Given the description of an element on the screen output the (x, y) to click on. 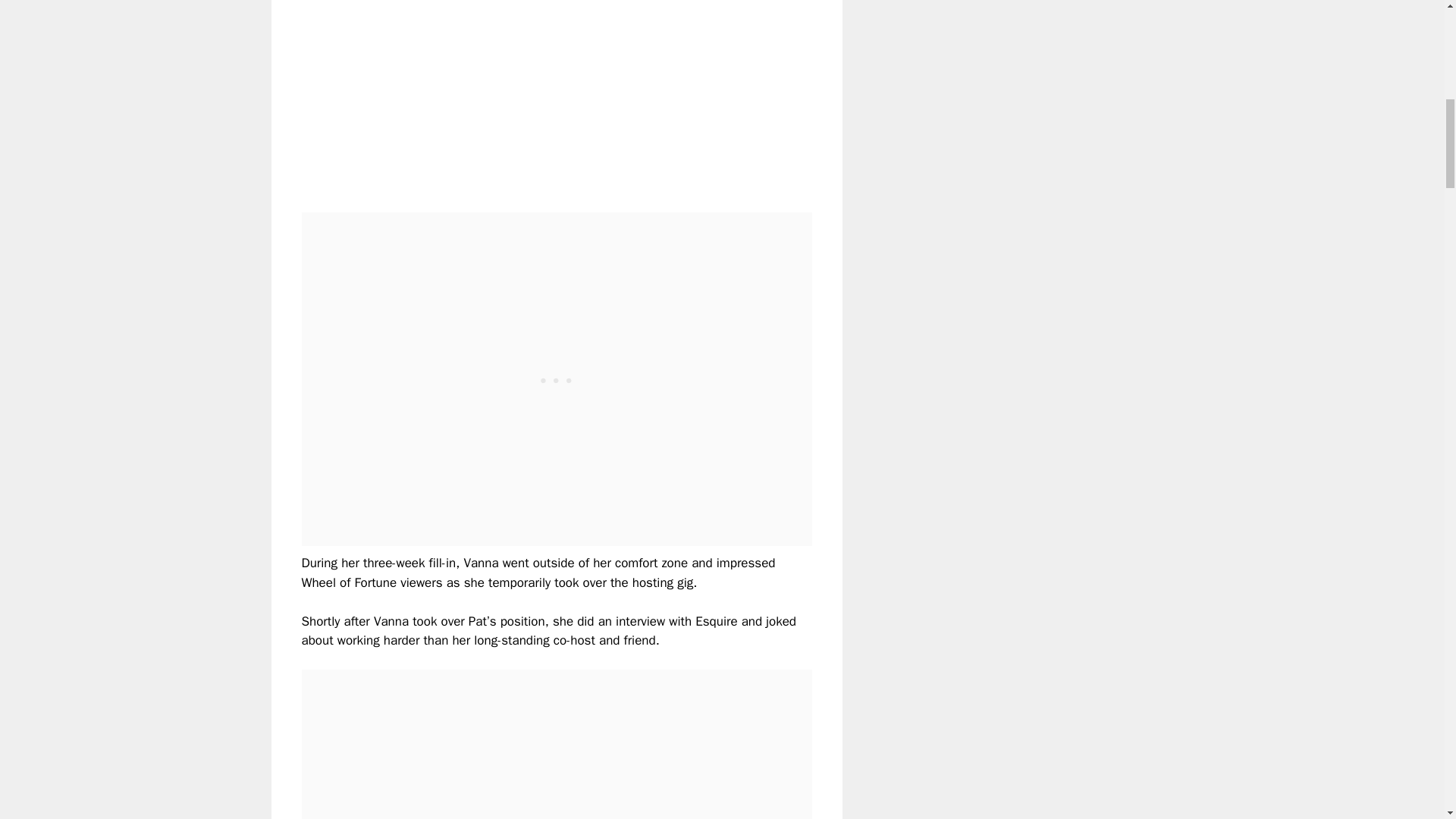
YouTube video player (513, 93)
